Given the description of an element on the screen output the (x, y) to click on. 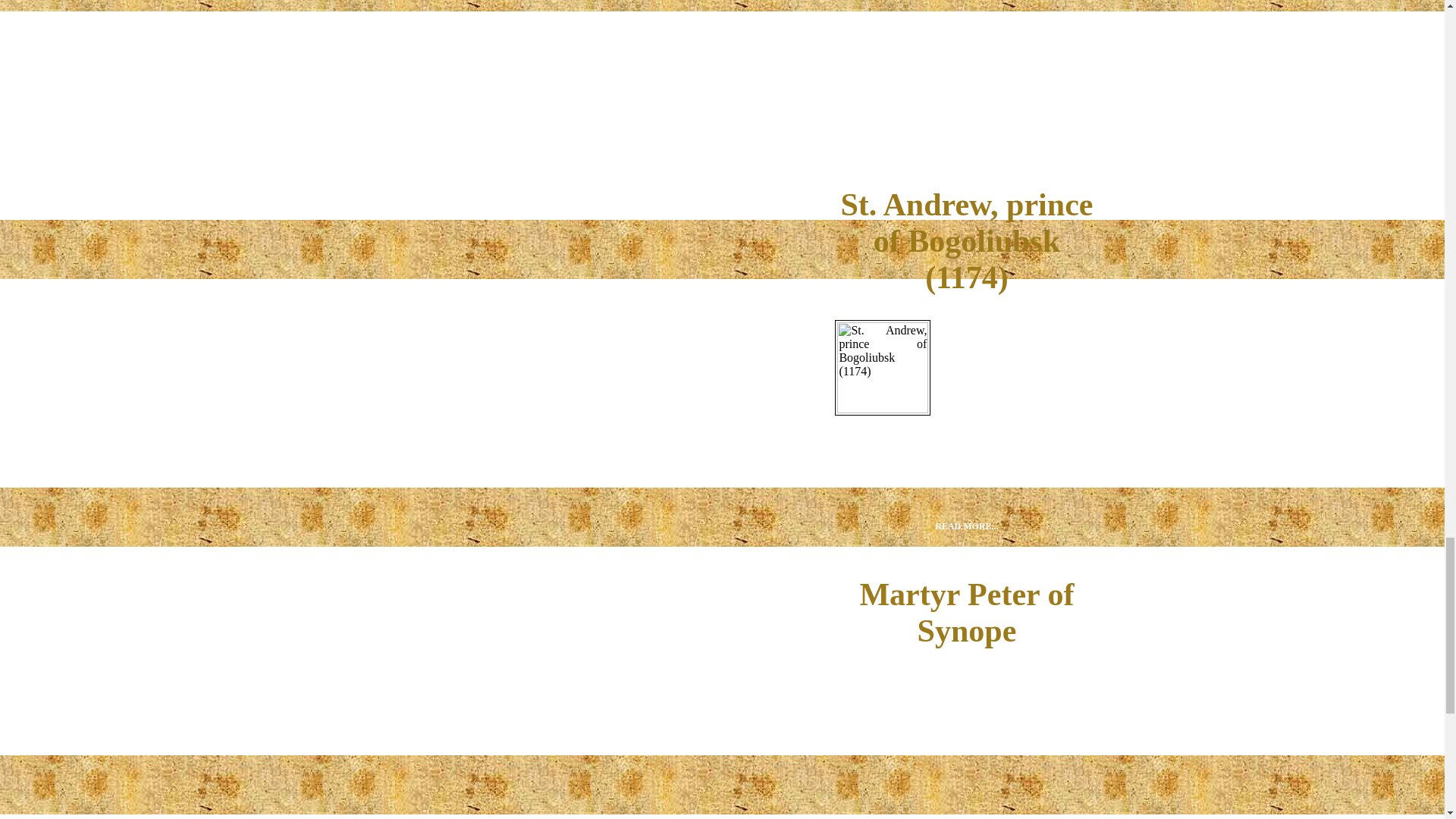
READ MORE... (966, 138)
READ MORE... (966, 527)
